Given the description of an element on the screen output the (x, y) to click on. 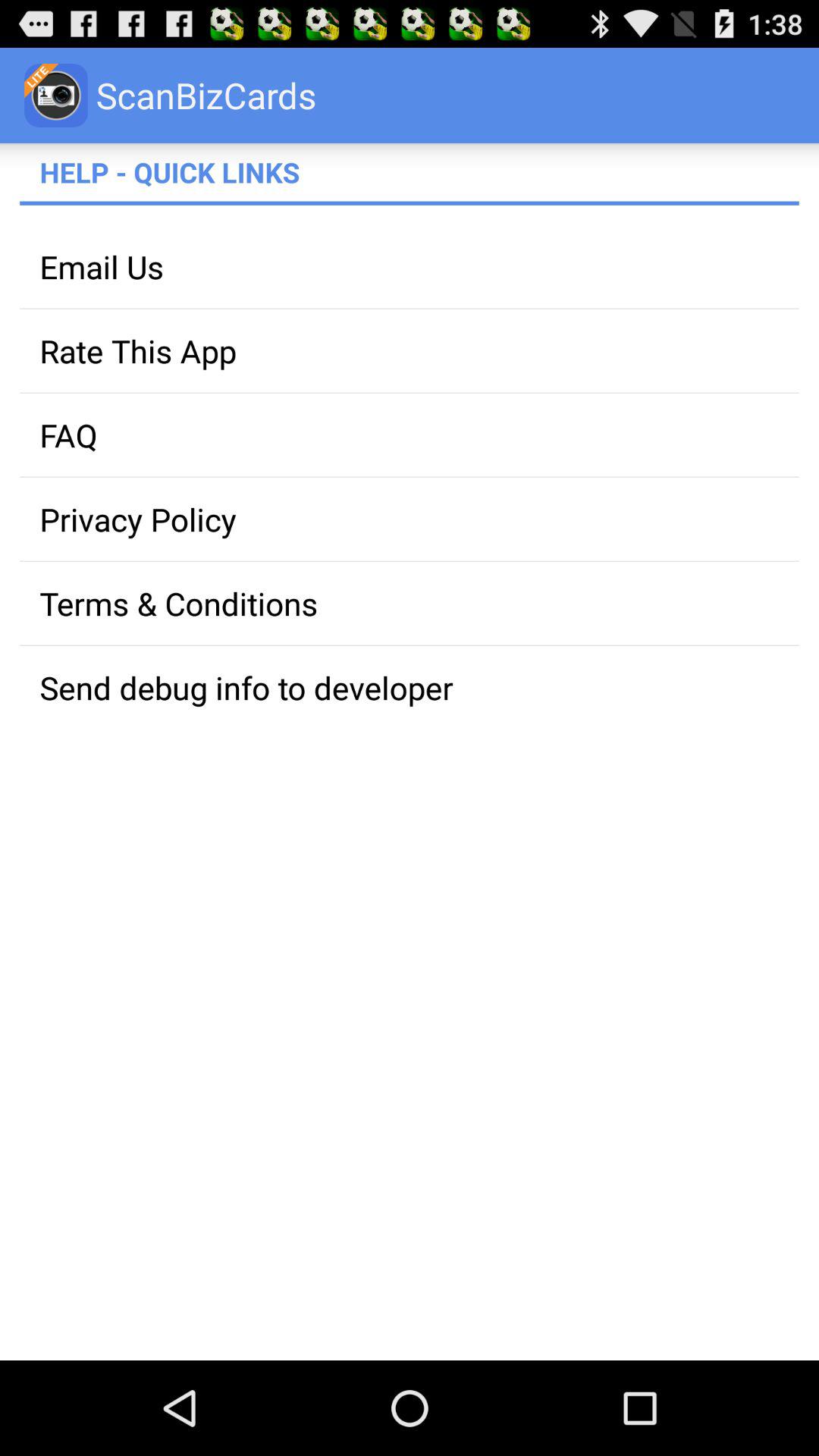
scroll until send debug info item (409, 687)
